Given the description of an element on the screen output the (x, y) to click on. 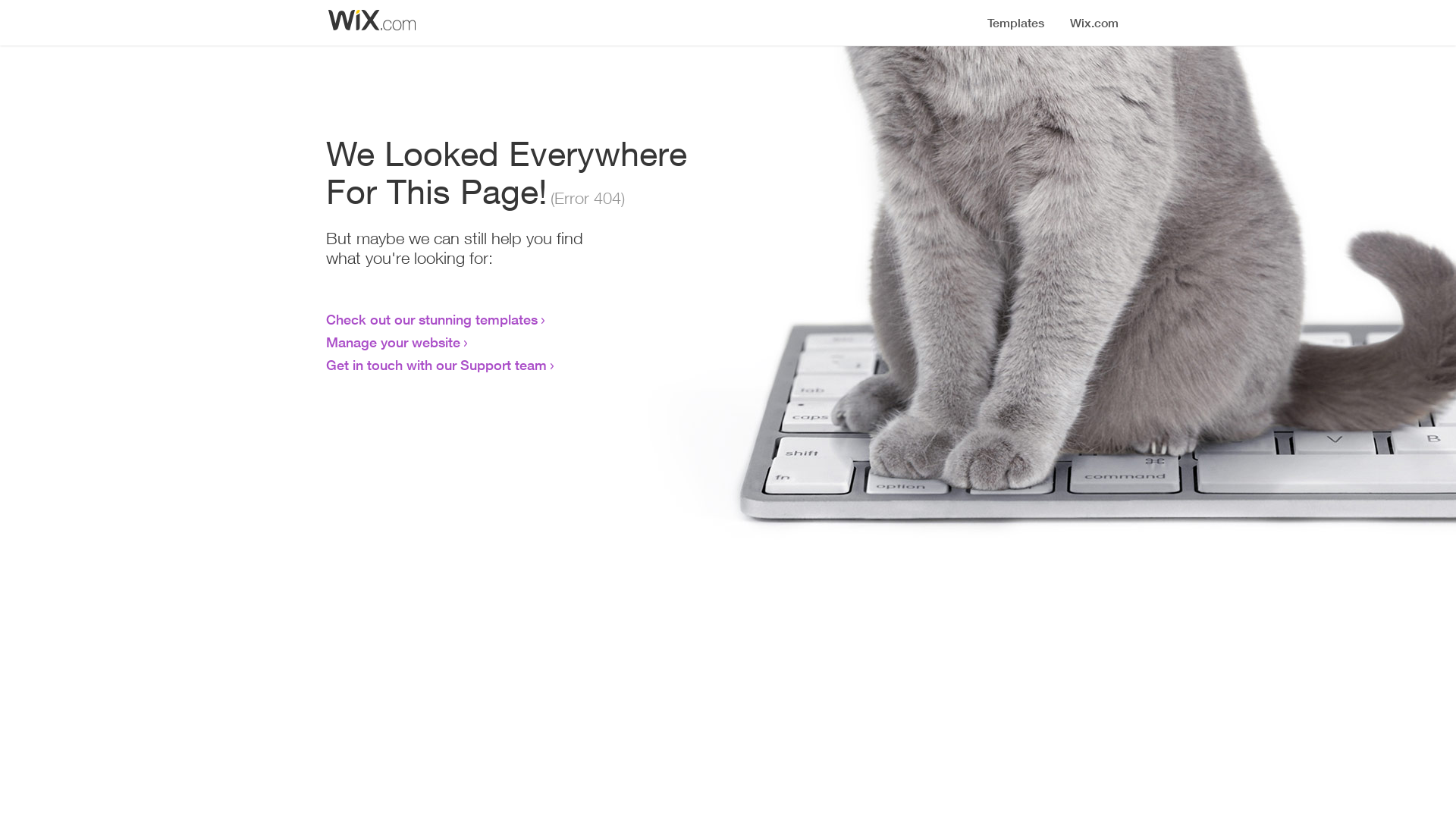
Get in touch with our Support team Element type: text (436, 364)
Check out our stunning templates Element type: text (431, 318)
Manage your website Element type: text (393, 341)
